Given the description of an element on the screen output the (x, y) to click on. 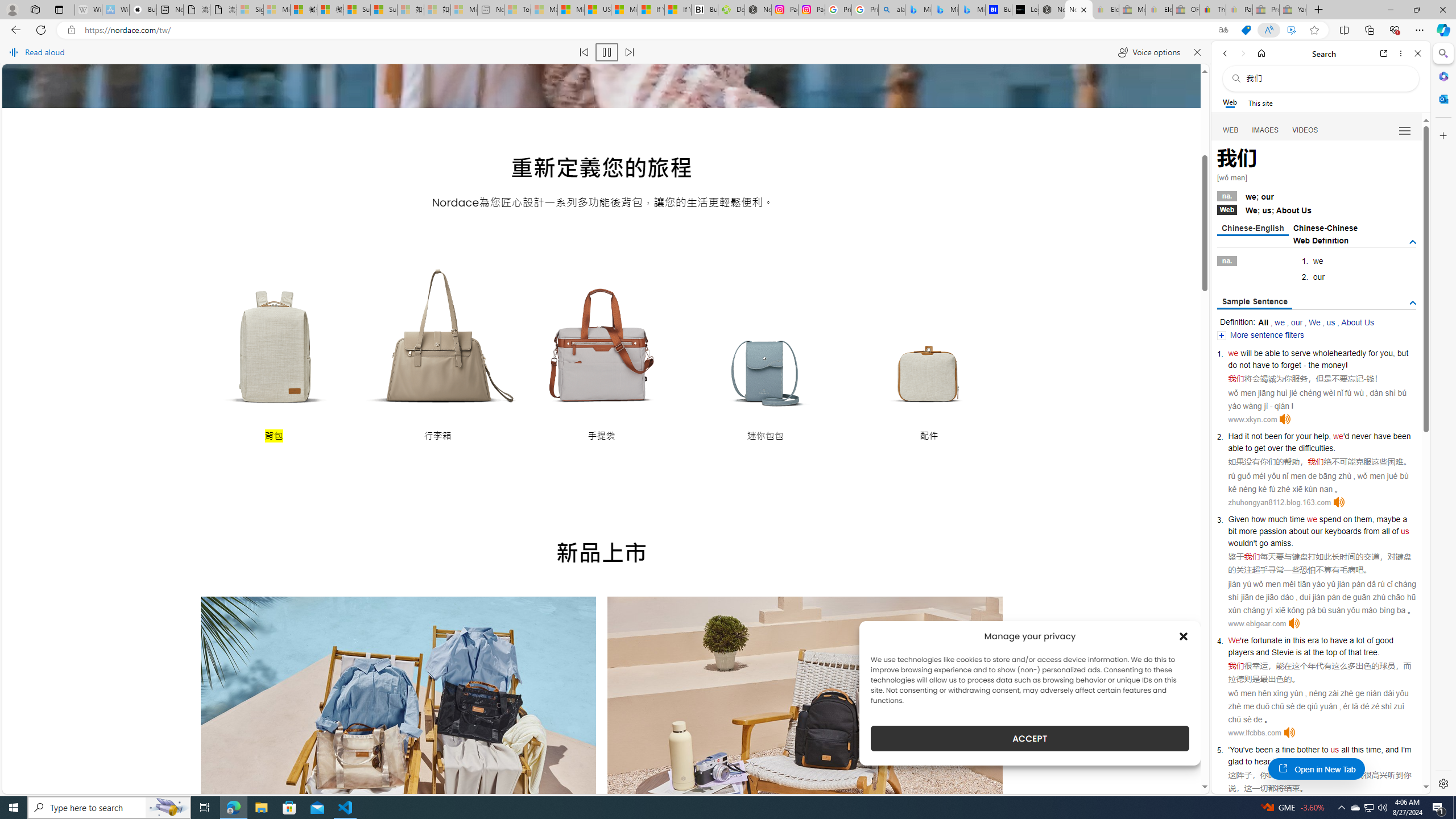
be (1258, 352)
zhuhongyan8112.blog.163.com (1278, 501)
Given (1238, 519)
www.xkyn.com (1251, 419)
more (1248, 530)
Sign in to your Microsoft account - Sleeping (249, 9)
